Given the description of an element on the screen output the (x, y) to click on. 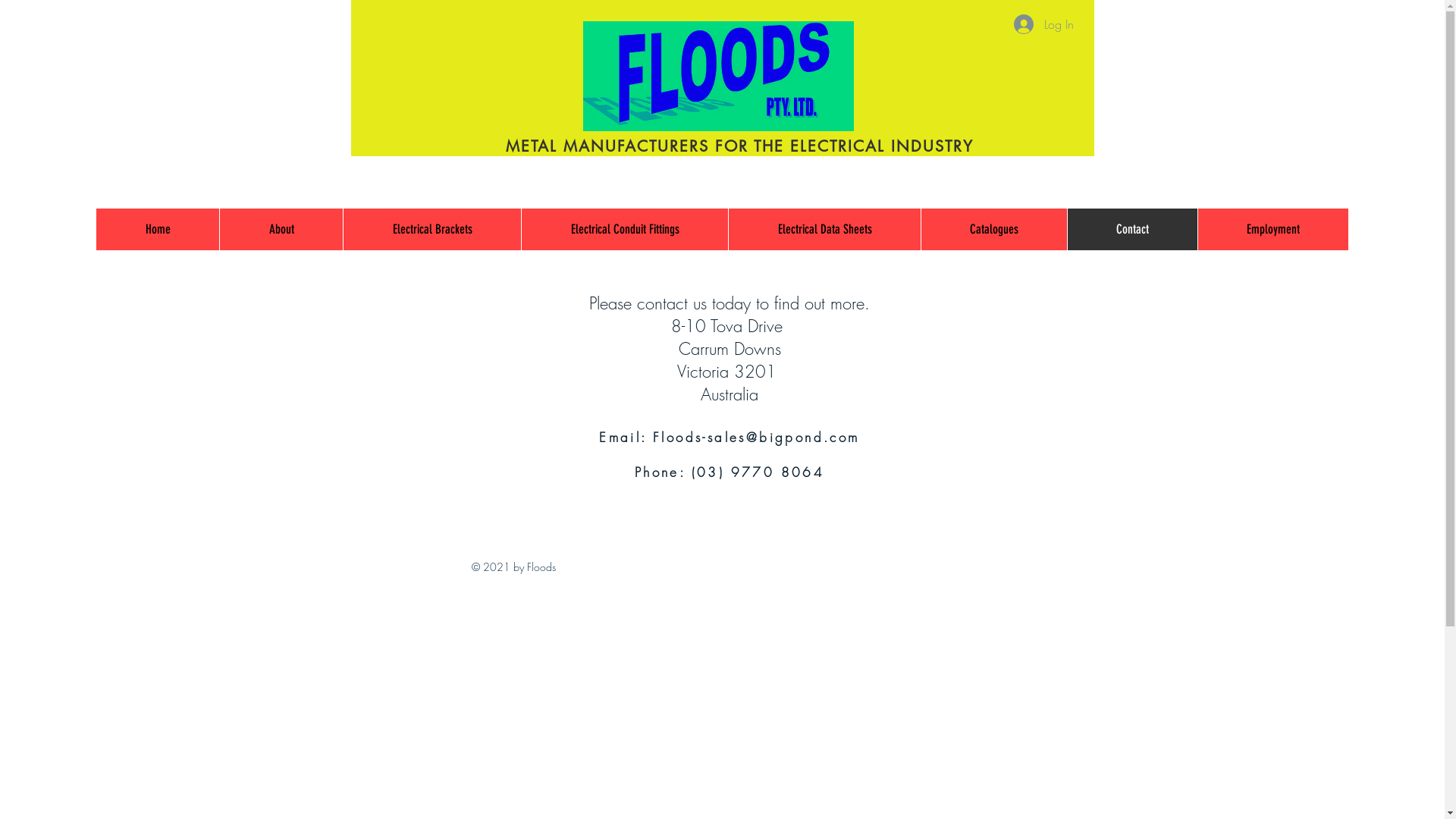
About Element type: text (280, 229)
Floods-sales@bigpond.com Element type: text (755, 436)
Electrical Conduit Fittings Element type: text (624, 229)
Electrical Brackets Element type: text (431, 229)
Home Element type: text (157, 229)
Catalogues Element type: text (993, 229)
Electrical Data Sheets Element type: text (824, 229)
Log In Element type: text (1042, 23)
Contact Element type: text (1131, 229)
Employment Element type: text (1272, 229)
